Given the description of an element on the screen output the (x, y) to click on. 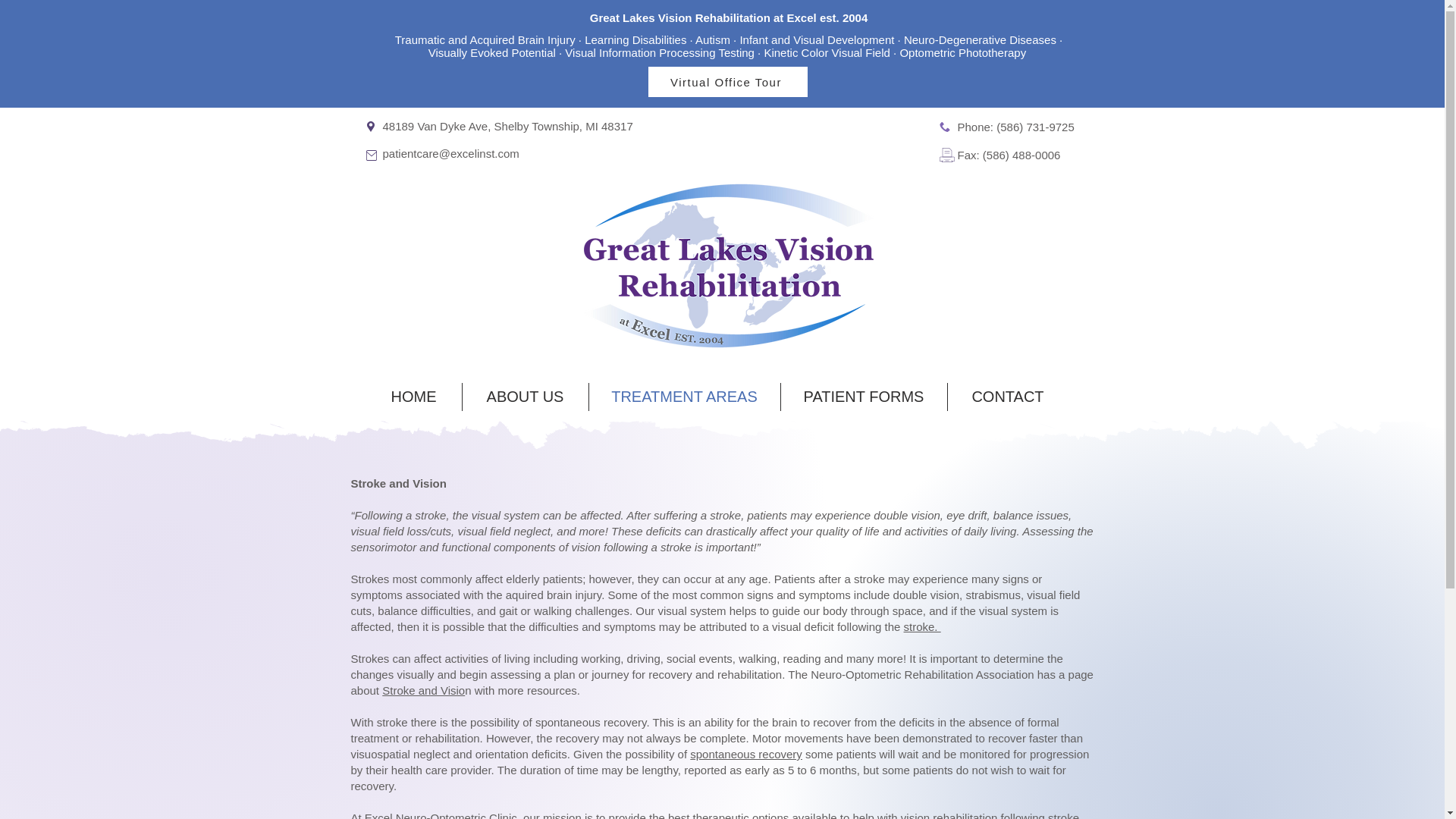
PATIENT FORMS (863, 397)
ABOUT US (525, 397)
HOME (413, 397)
Virtual Office Tour (726, 81)
Stroke and Visio (422, 689)
stroke.  (922, 626)
CONTACT (1007, 397)
TREATMENT AREAS (683, 397)
